Given the description of an element on the screen output the (x, y) to click on. 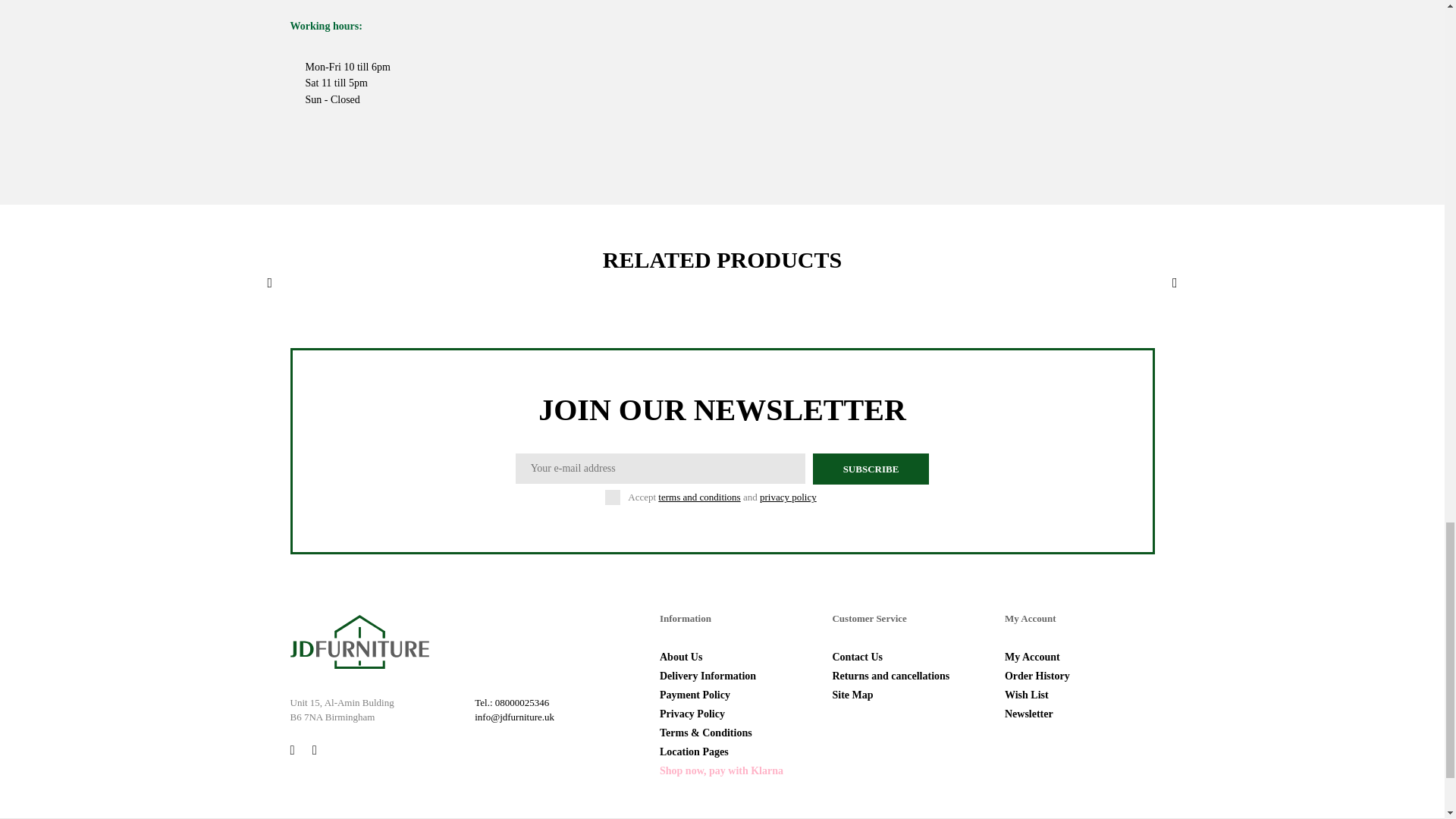
delivery within UK (707, 675)
about JDfurniture (680, 656)
RELATED PRODUCTS (721, 269)
